Given the description of an element on the screen output the (x, y) to click on. 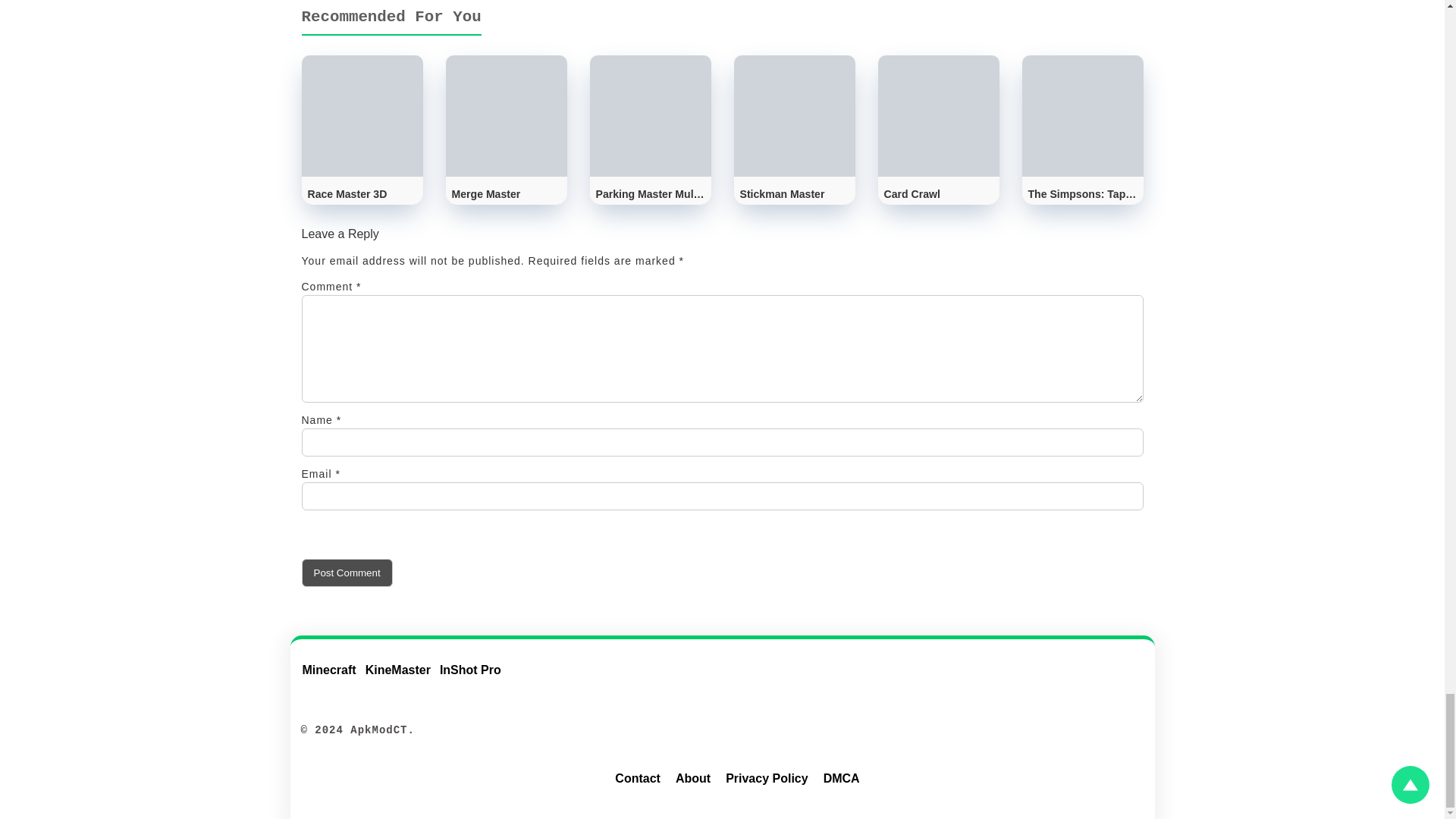
Parking Master Multiplayer 2  (650, 129)
Race Master 3D  (362, 129)
Merge Master (506, 129)
KineMaster Mod Apk (402, 679)
Post Comment (347, 572)
Card Crawl (937, 129)
Post Comment (347, 572)
Stickman Master (794, 129)
Contact (637, 780)
The Simpsons:  Tapped Out  (1082, 129)
Parking Master Multiplayer 2 (650, 129)
Card Crawl  (937, 129)
Merge Master  (506, 129)
Race Master 3D (362, 129)
InShot Pro Apk (475, 679)
